Given the description of an element on the screen output the (x, y) to click on. 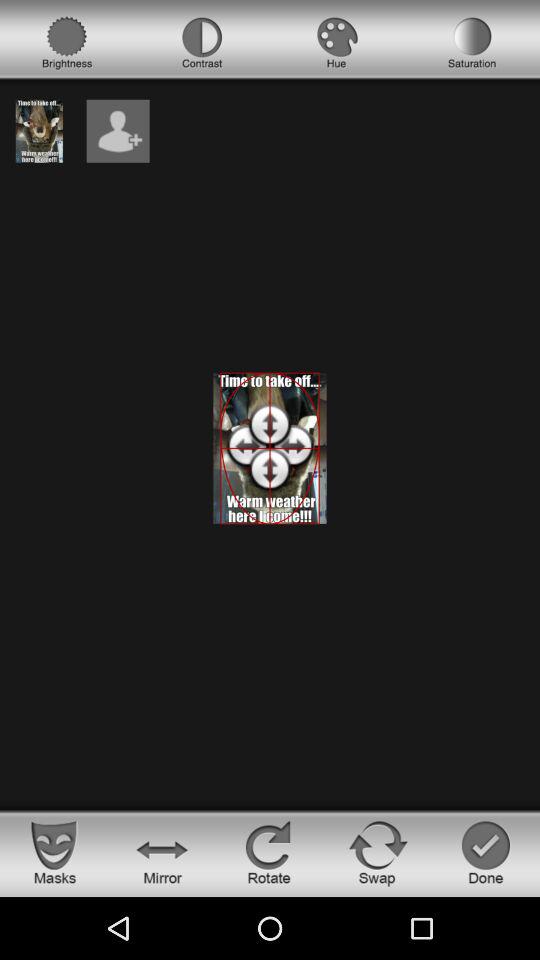
rotate image (269, 852)
